Given the description of an element on the screen output the (x, y) to click on. 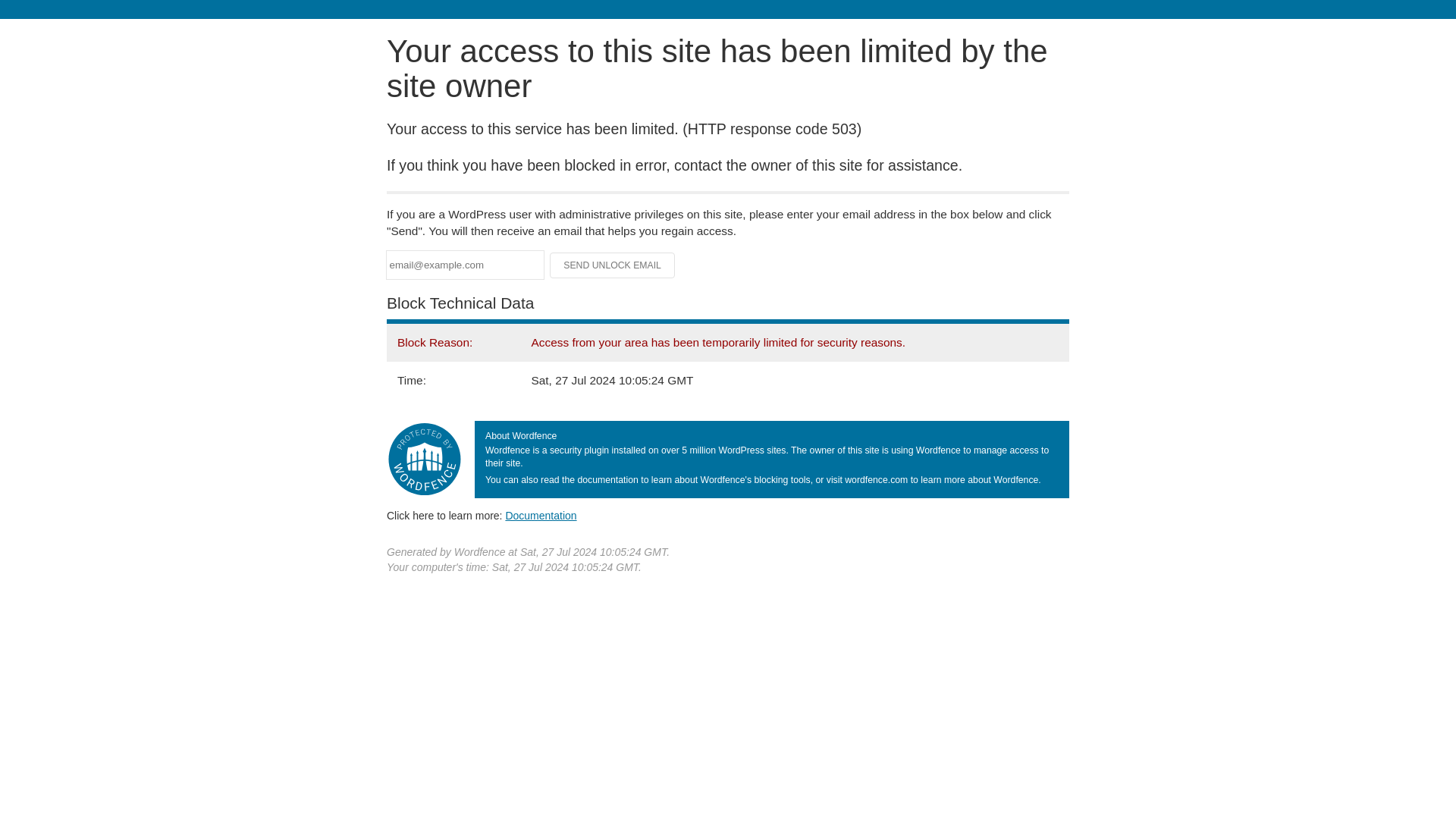
Send Unlock Email (612, 265)
Send Unlock Email (612, 265)
Documentation (540, 515)
